Given the description of an element on the screen output the (x, y) to click on. 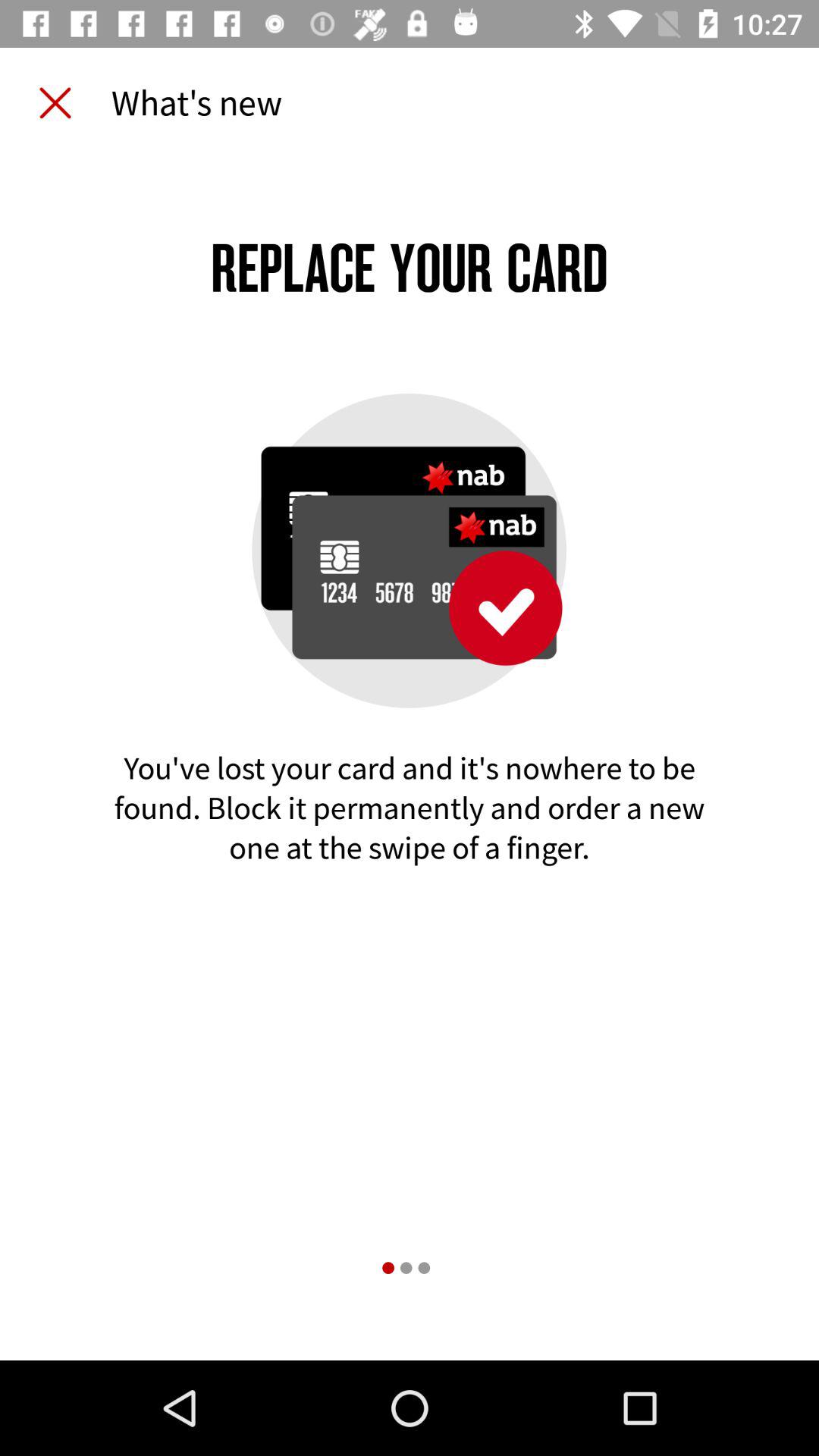
turn off item next to the what's new (55, 103)
